Given the description of an element on the screen output the (x, y) to click on. 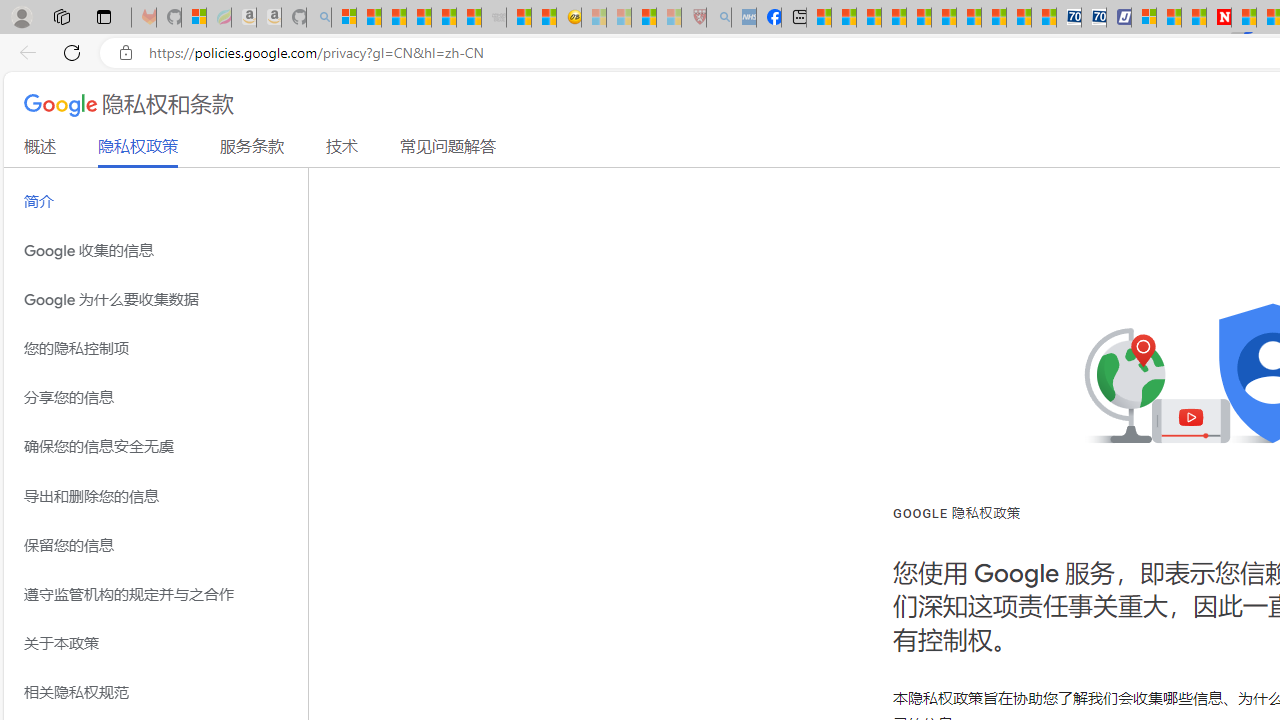
Combat Siege - Sleeping (493, 17)
New Report Confirms 2023 Was Record Hot | Watch (443, 17)
